Given the description of an element on the screen output the (x, y) to click on. 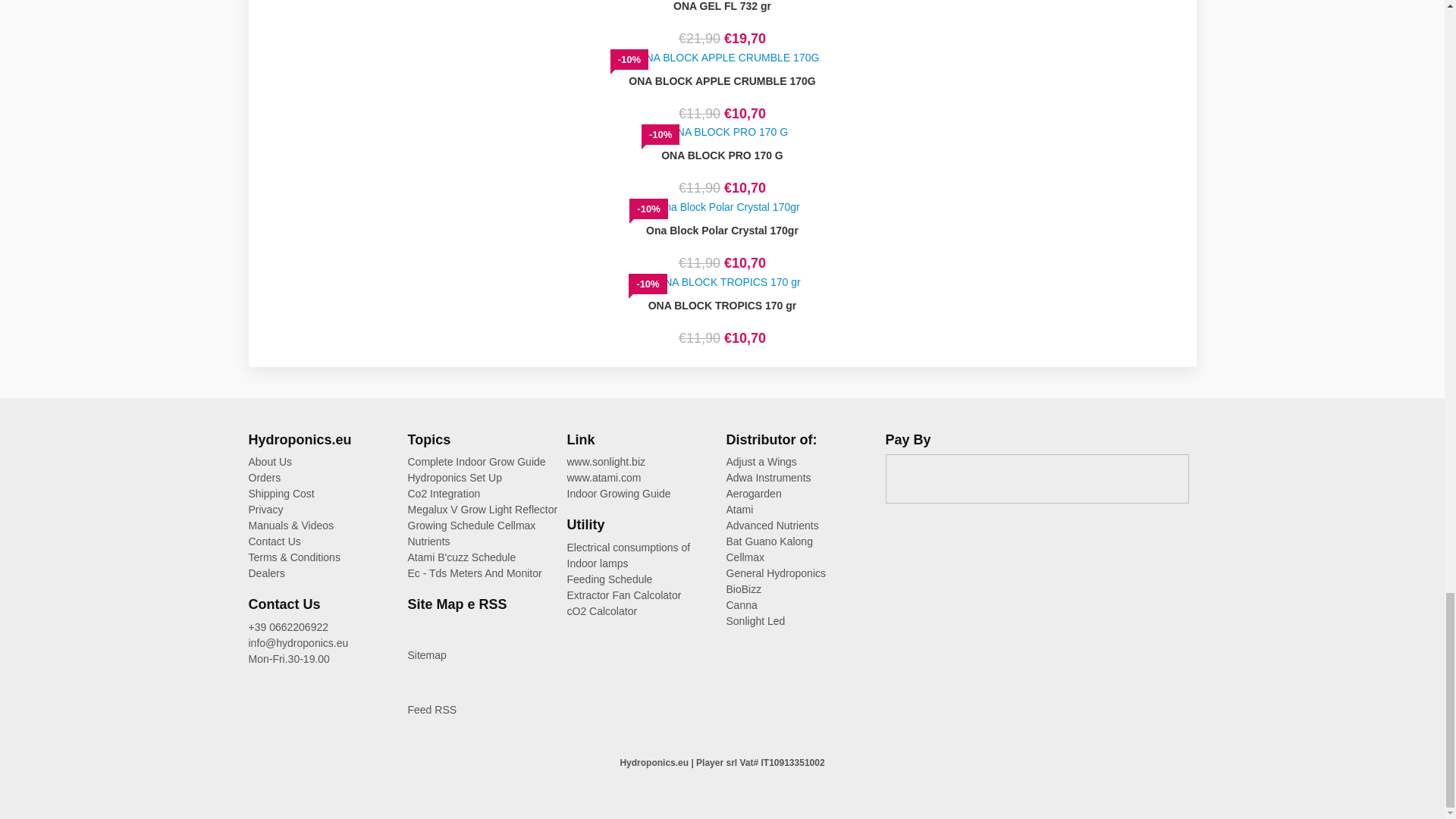
Hydroponics Grow Shop (274, 541)
